Given the description of an element on the screen output the (x, y) to click on. 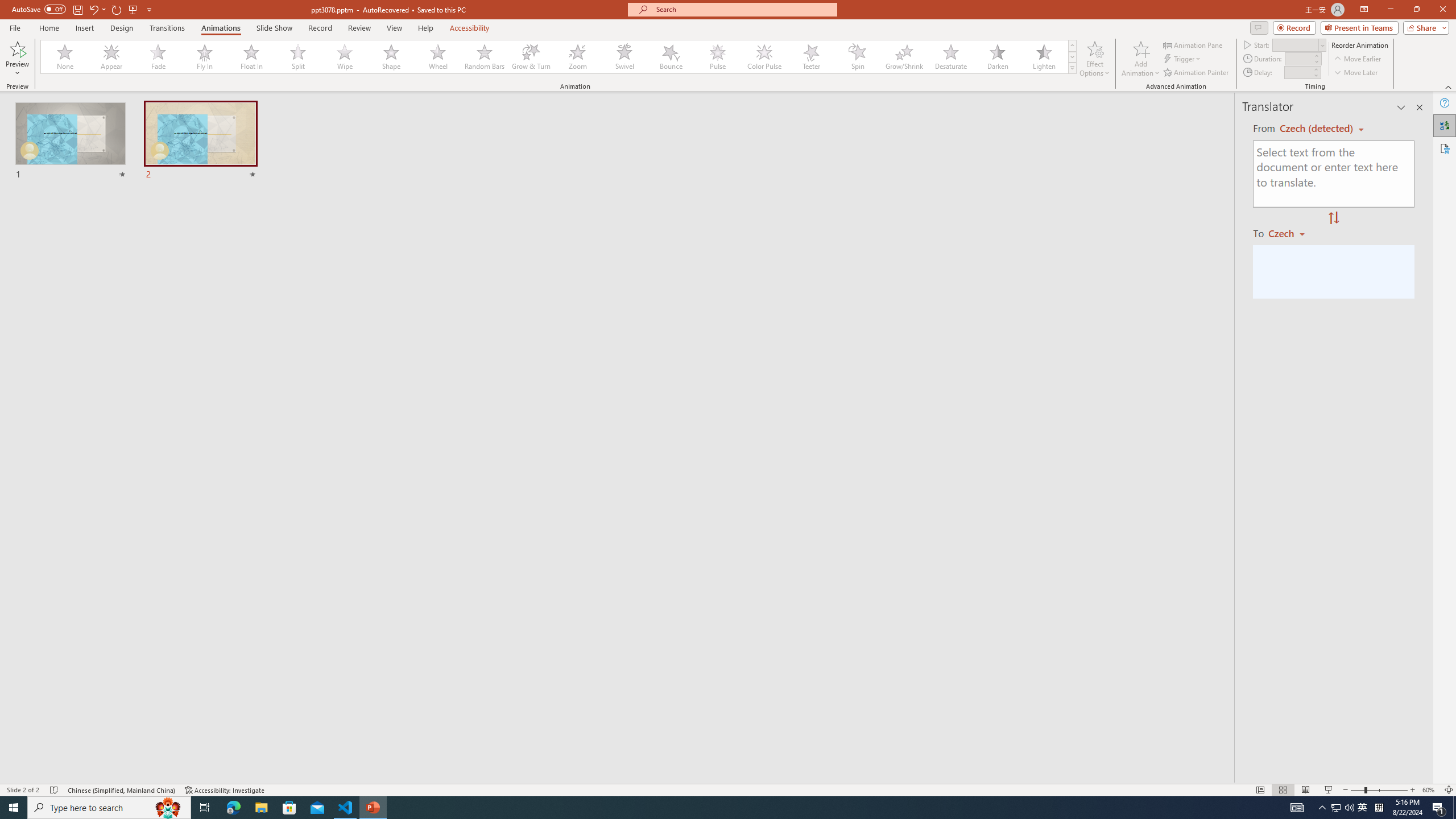
Effect Options (1094, 58)
Fade (158, 56)
Animation Painter (1196, 72)
Animation Delay (1297, 72)
Float In (251, 56)
